Given the description of an element on the screen output the (x, y) to click on. 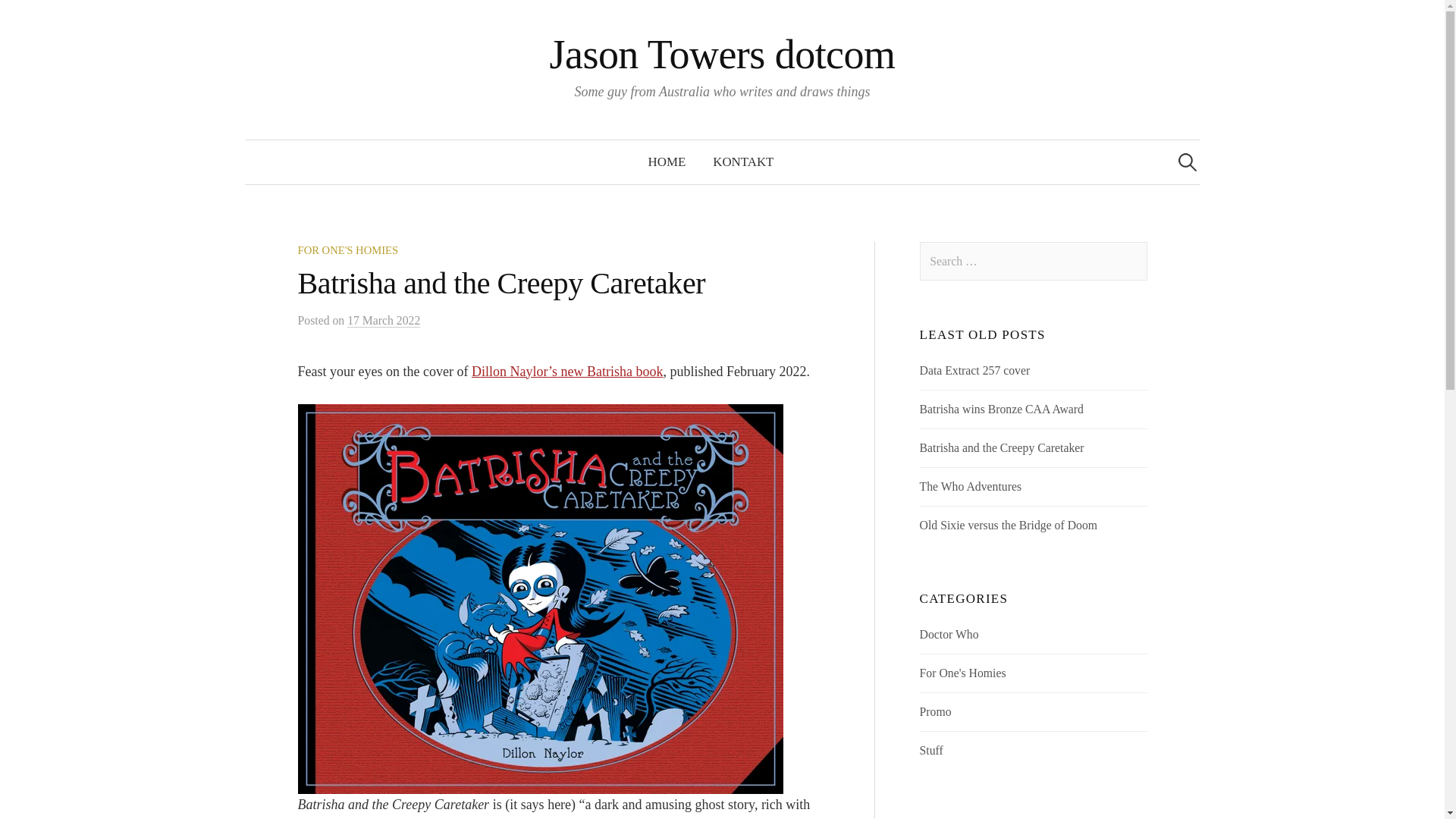
Doctor Who (949, 634)
FOR ONE'S HOMIES (347, 250)
Search (40, 18)
Batrisha wins Bronze CAA Award (1001, 408)
Promo (936, 711)
Jason Towers dotcom (722, 53)
KONTAKT (742, 162)
Batrisha and the Creepy Caretaker (1002, 447)
Search (18, 18)
Data Extract 257 cover (975, 369)
